Given the description of an element on the screen output the (x, y) to click on. 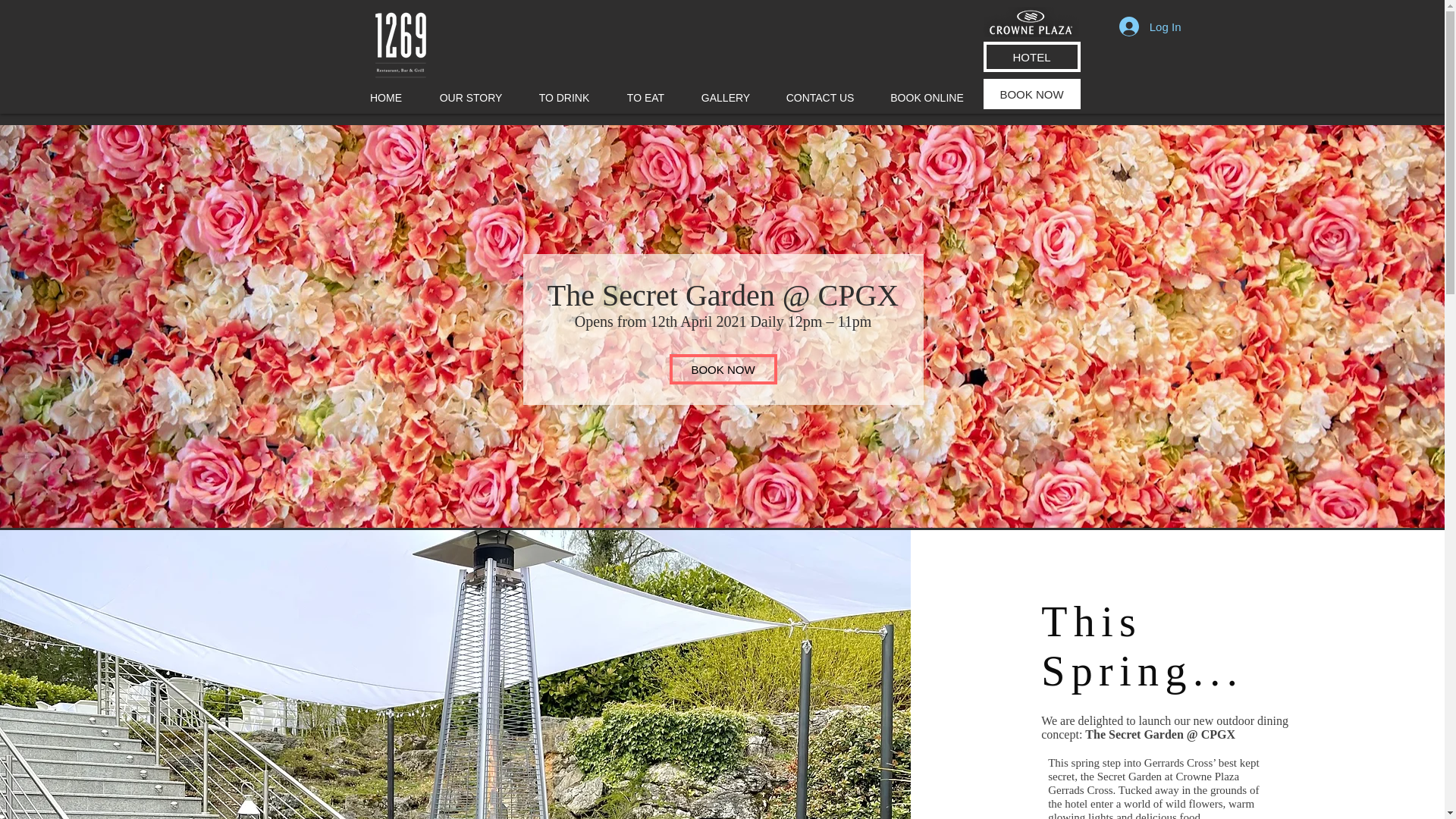
HOTEL (1031, 56)
TO DRINK (563, 97)
Log In (1150, 26)
TO EAT (646, 97)
OUR STORY (471, 97)
BOOK NOW (722, 368)
BOOK ONLINE (926, 97)
HOME (385, 97)
GALLERY (726, 97)
logo white.png (400, 44)
CONTACT US (819, 97)
BOOK NOW (1031, 93)
